Given the description of an element on the screen output the (x, y) to click on. 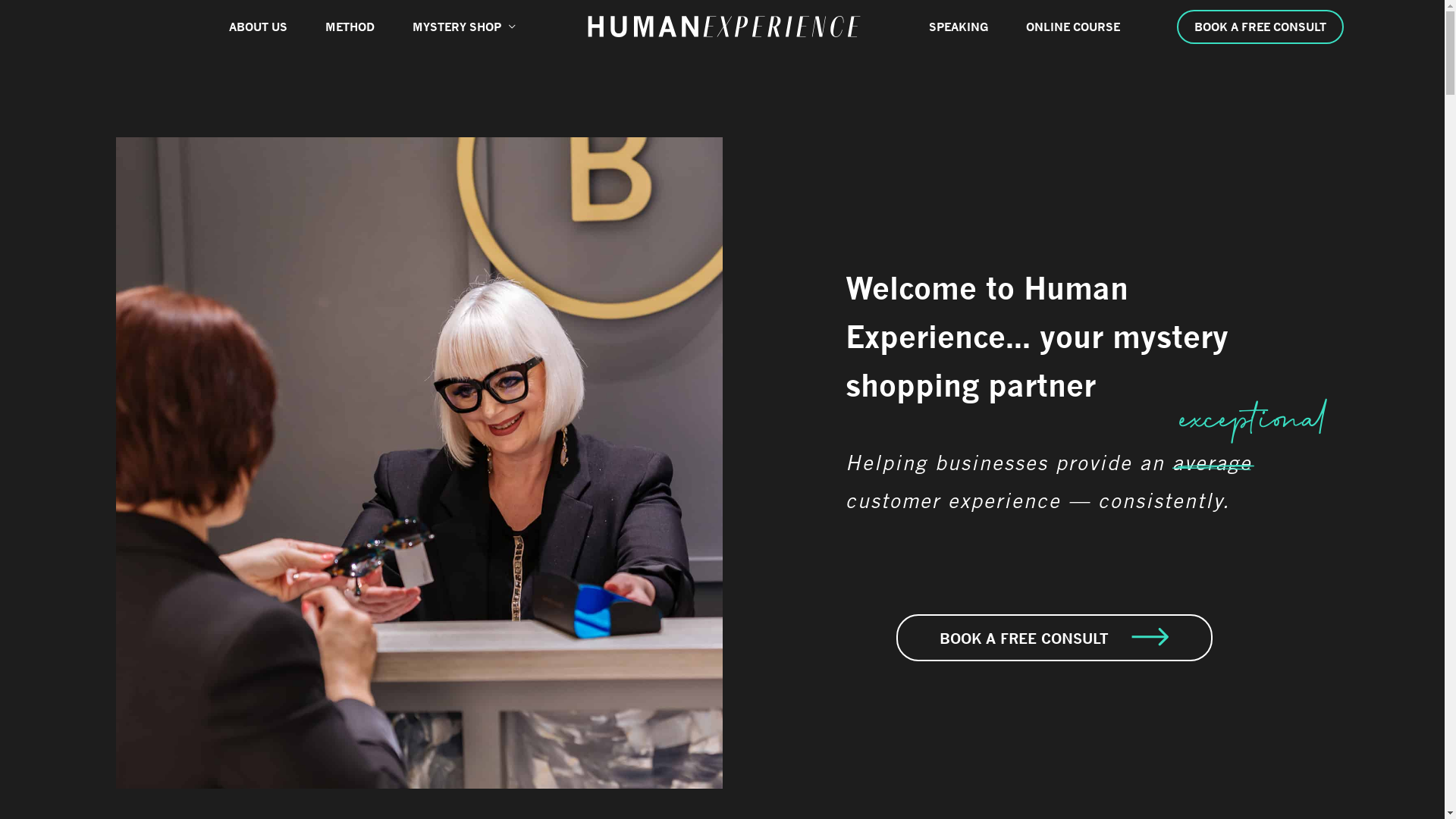
MYSTERY SHOP Element type: text (463, 26)
ONLINE COURSE Element type: text (1073, 26)
SPEAKING Element type: text (958, 26)
ABOUT US Element type: text (258, 26)
BOOK A FREE CONSULT Element type: text (1248, 26)
BOOK A FREE CONSULT Element type: text (1054, 637)
METHOD Element type: text (349, 26)
